Given the description of an element on the screen output the (x, y) to click on. 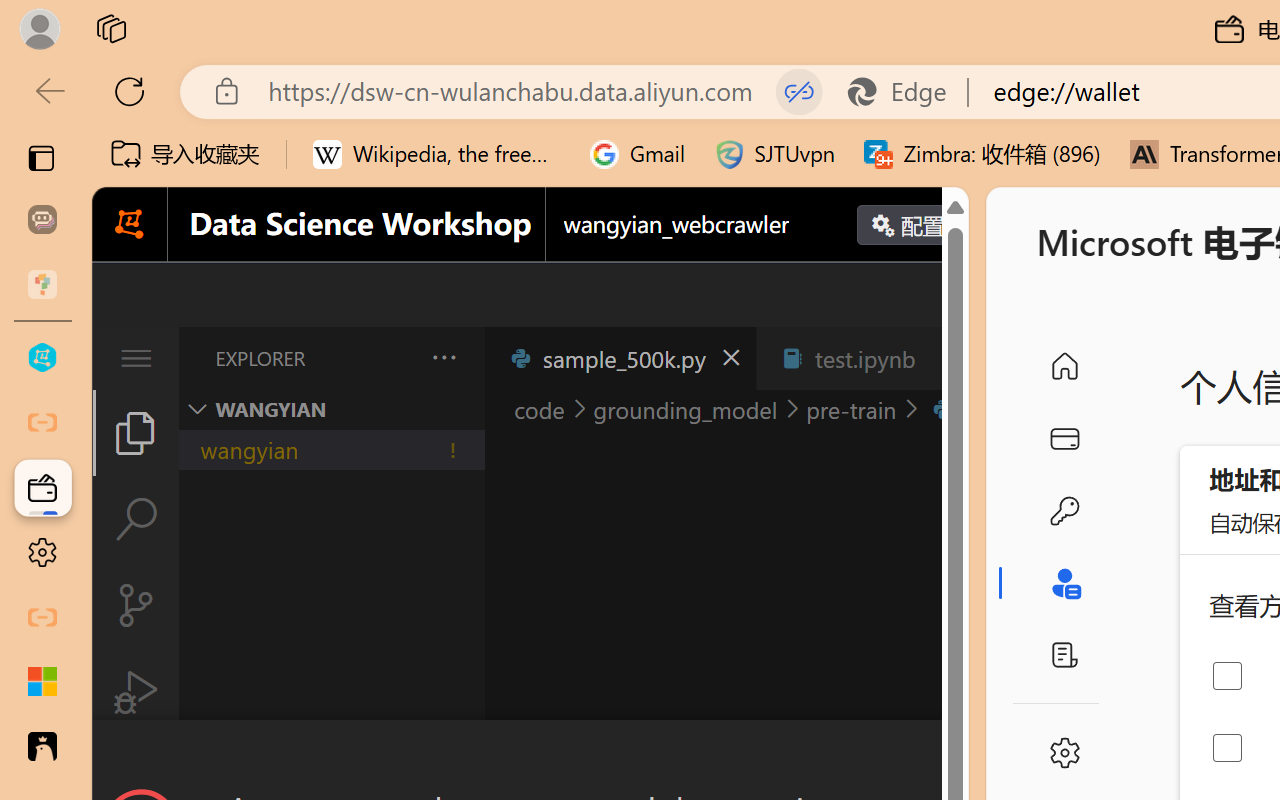
Microsoft security help and learning (42, 681)
Explorer actions (391, 358)
Class: menubar compact overflow-menu-only (135, 358)
